Given the description of an element on the screen output the (x, y) to click on. 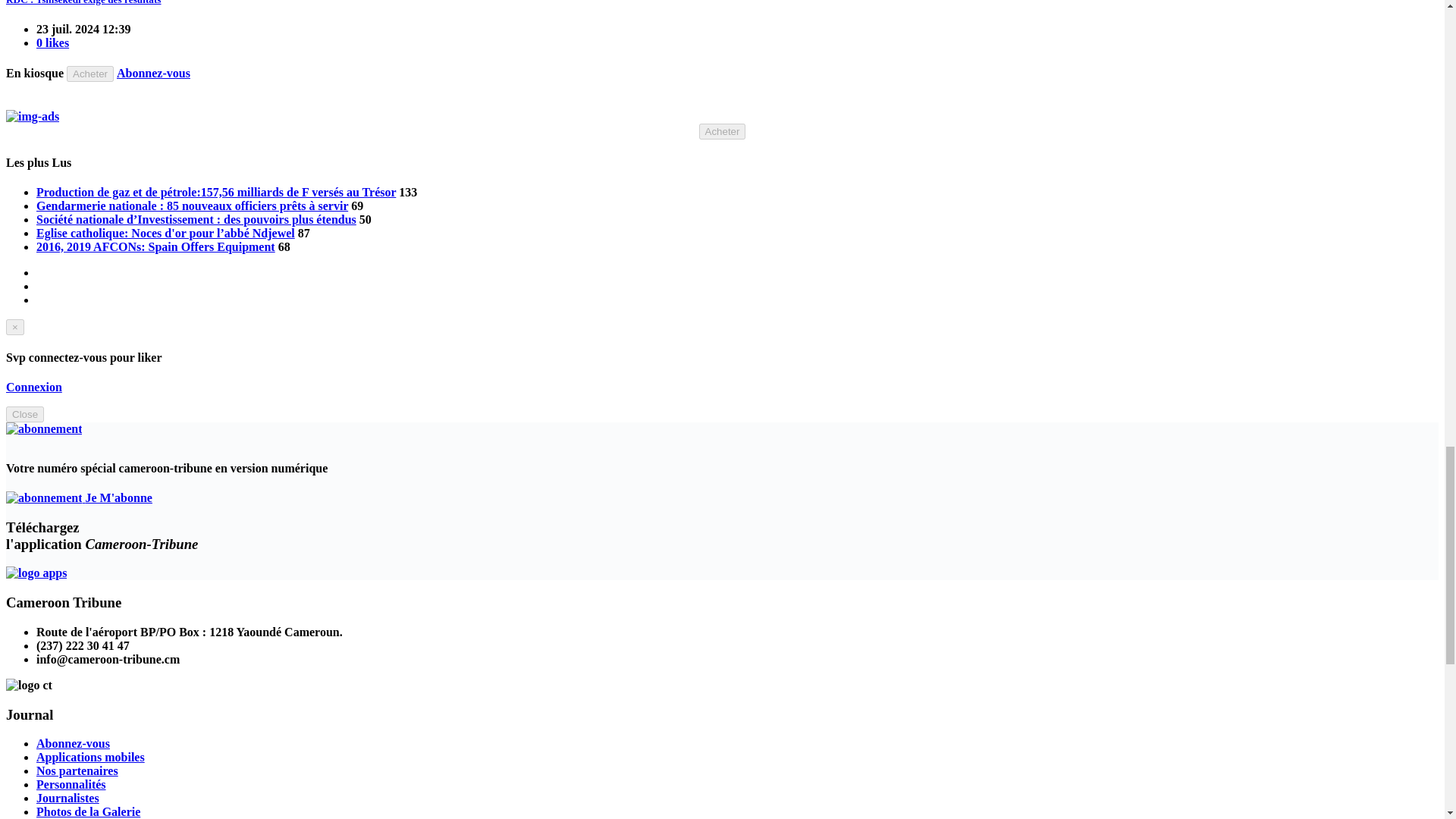
Acheter (721, 131)
Acheter (89, 73)
